Given the description of an element on the screen output the (x, y) to click on. 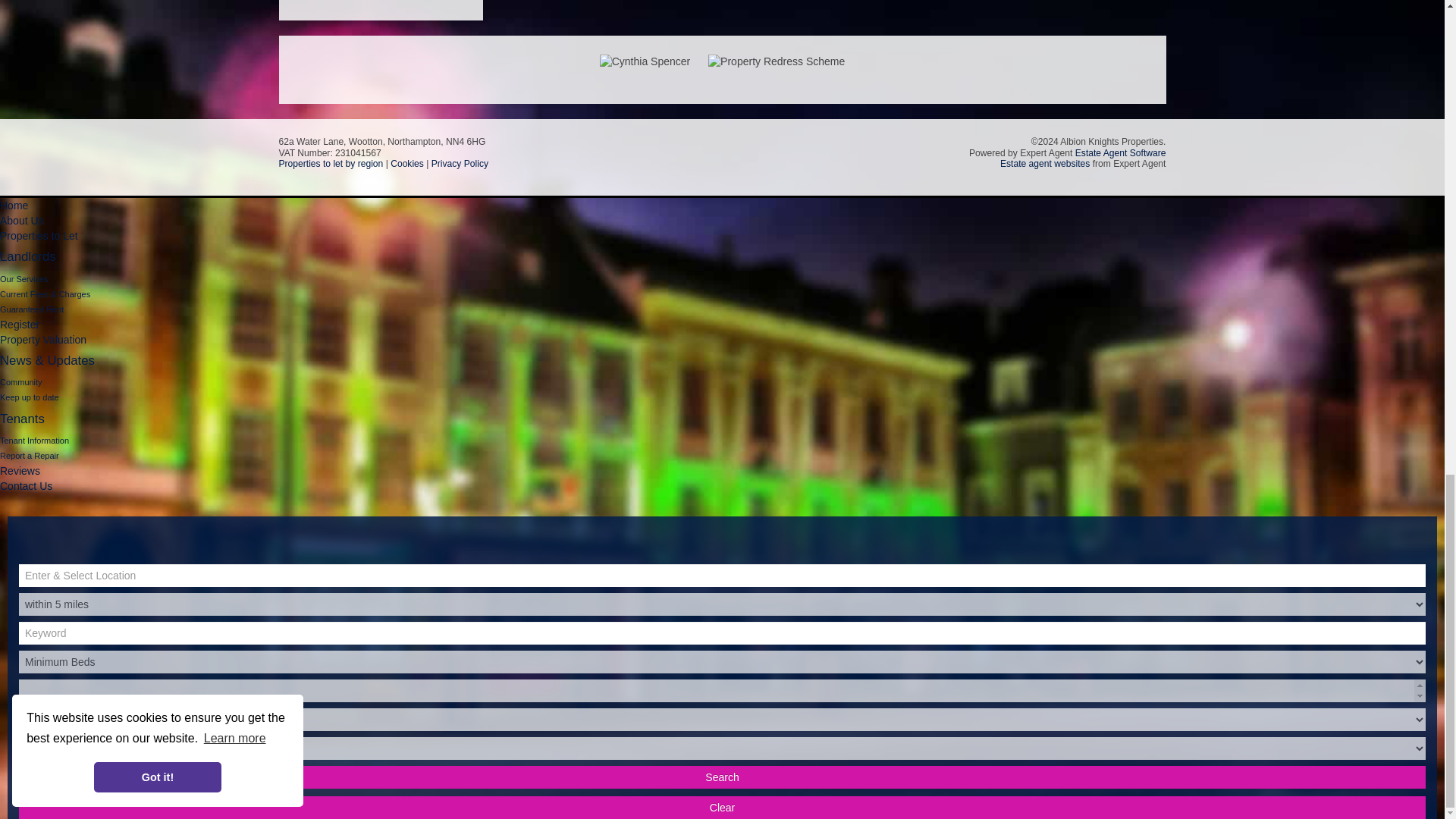
Properties to let by region (331, 163)
Estate agent websites (1044, 163)
Privacy Policy (458, 163)
Estate Agent Software (1120, 153)
Cookies (406, 163)
